Given the description of an element on the screen output the (x, y) to click on. 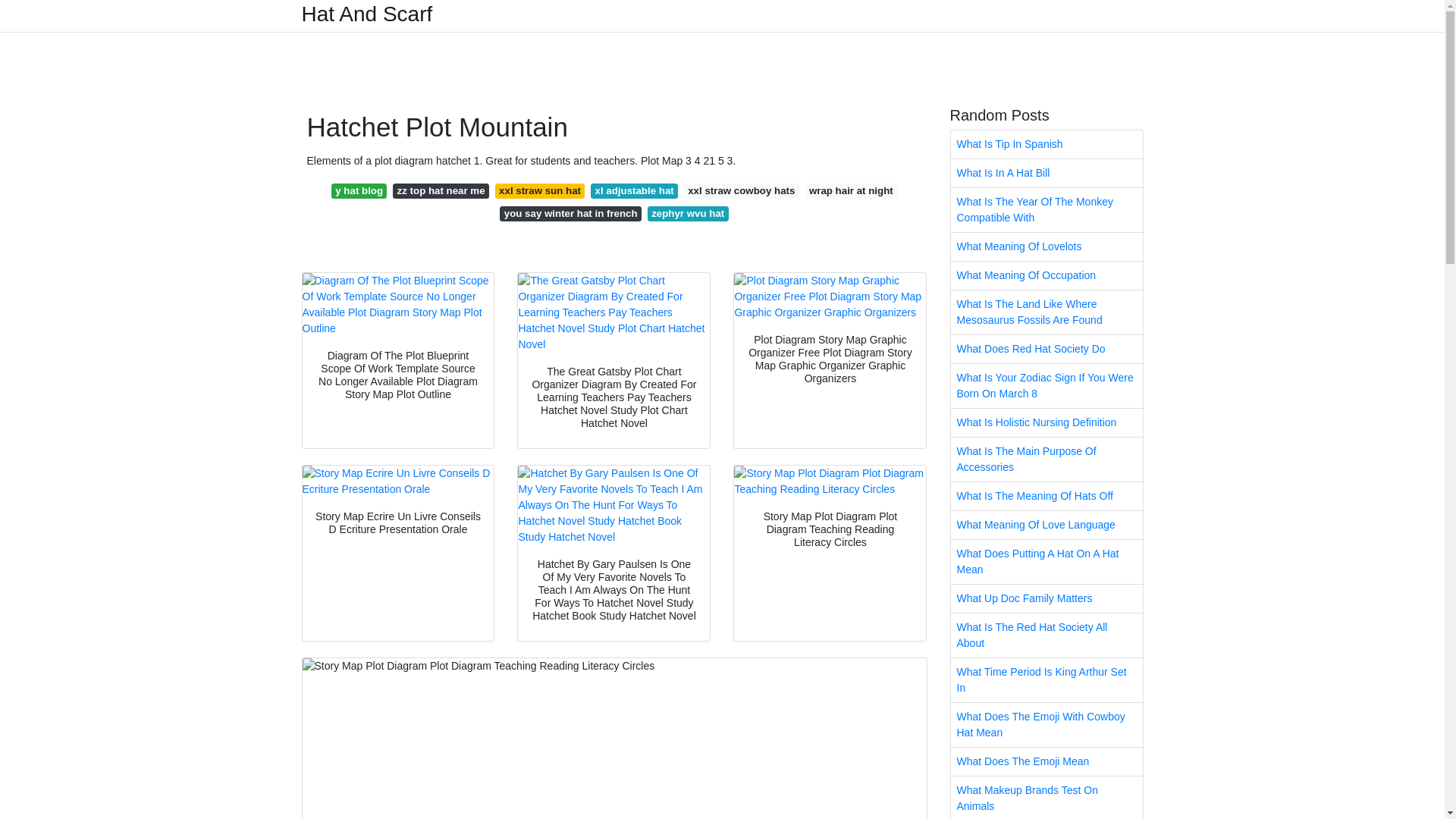
What Is Tip In Spanish (1046, 144)
xxl straw sun hat (540, 191)
What Is The Main Purpose Of Accessories (1046, 459)
What Is The Year Of The Monkey Compatible With (1046, 209)
y hat blog (359, 191)
wrap hair at night (850, 191)
you say winter hat in french (569, 213)
What Is Holistic Nursing Definition (1046, 422)
What Is Your Zodiac Sign If You Were Born On March 8 (1046, 385)
What Meaning Of Lovelots (1046, 246)
Hat And Scarf (366, 13)
zephyr wvu hat (688, 213)
What Is The Land Like Where Mesosaurus Fossils Are Found (1046, 312)
What Is In A Hat Bill (1046, 172)
zz top hat near me (441, 191)
